Given the description of an element on the screen output the (x, y) to click on. 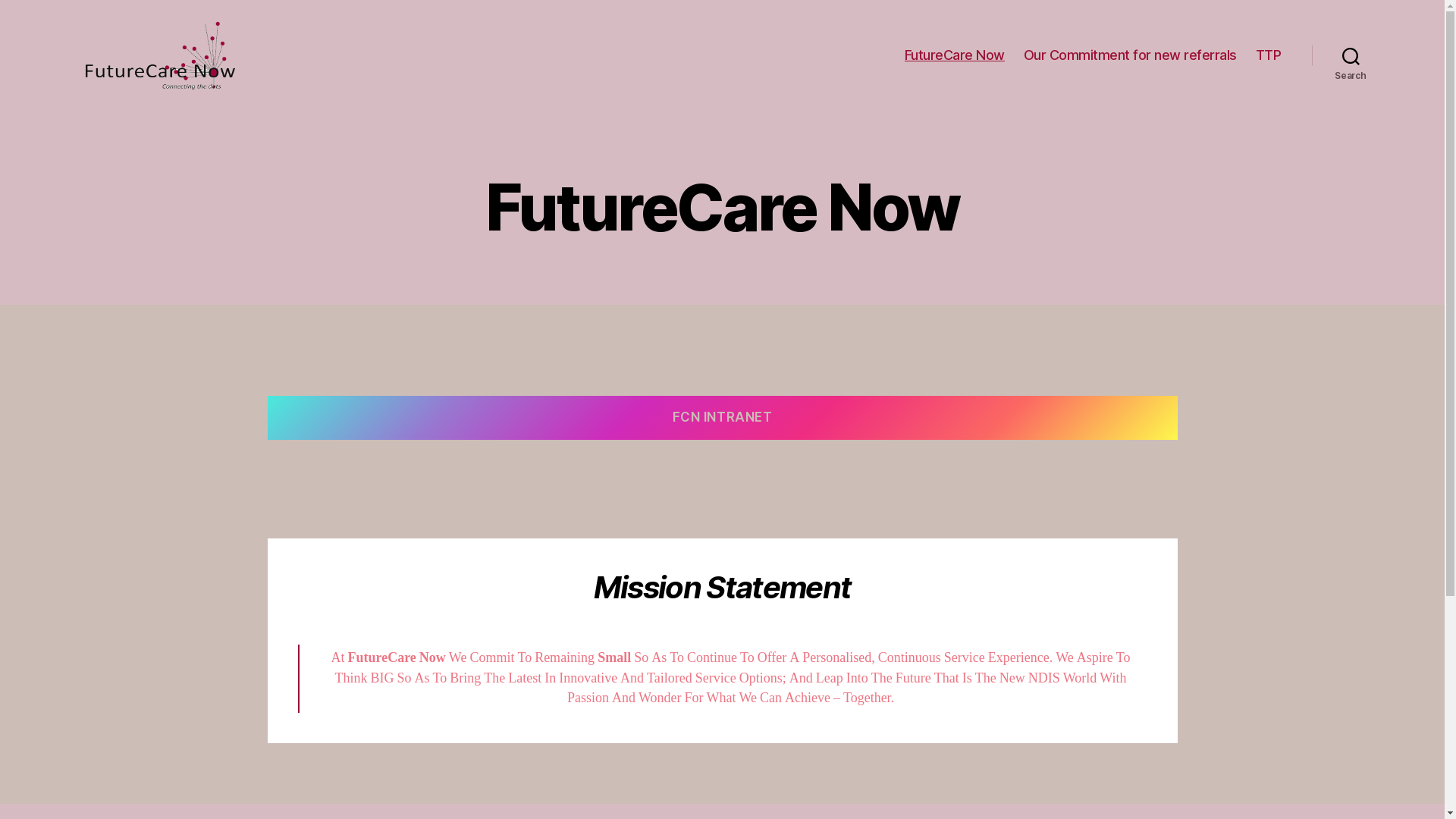
FutureCare Now Element type: text (954, 55)
Our Commitment for new referrals Element type: text (1129, 55)
TTP Element type: text (1268, 55)
FCN INTRANET Element type: text (721, 417)
Search Element type: text (1350, 55)
